Given the description of an element on the screen output the (x, y) to click on. 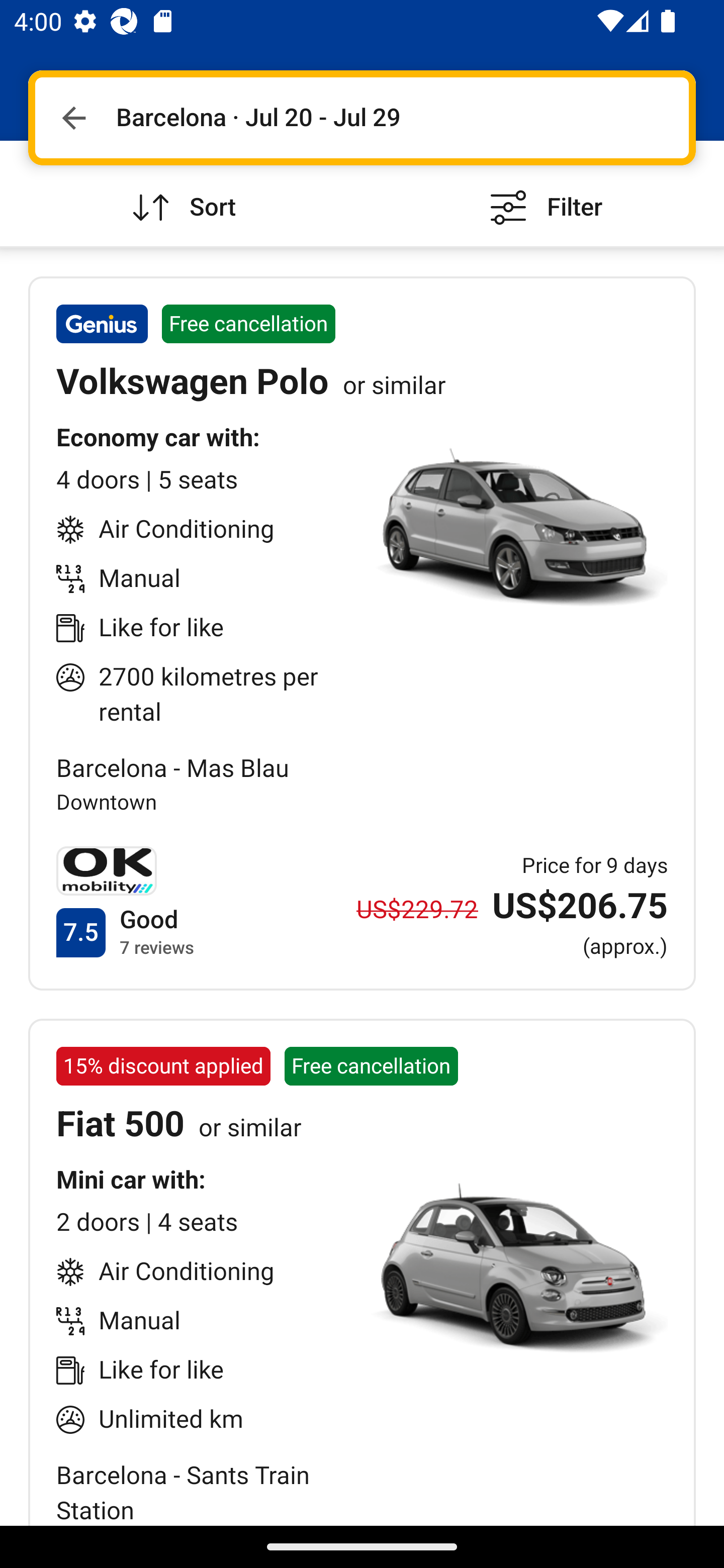
Back to previous screen (73, 117)
Sort (181, 193)
Filter (543, 193)
